Given the description of an element on the screen output the (x, y) to click on. 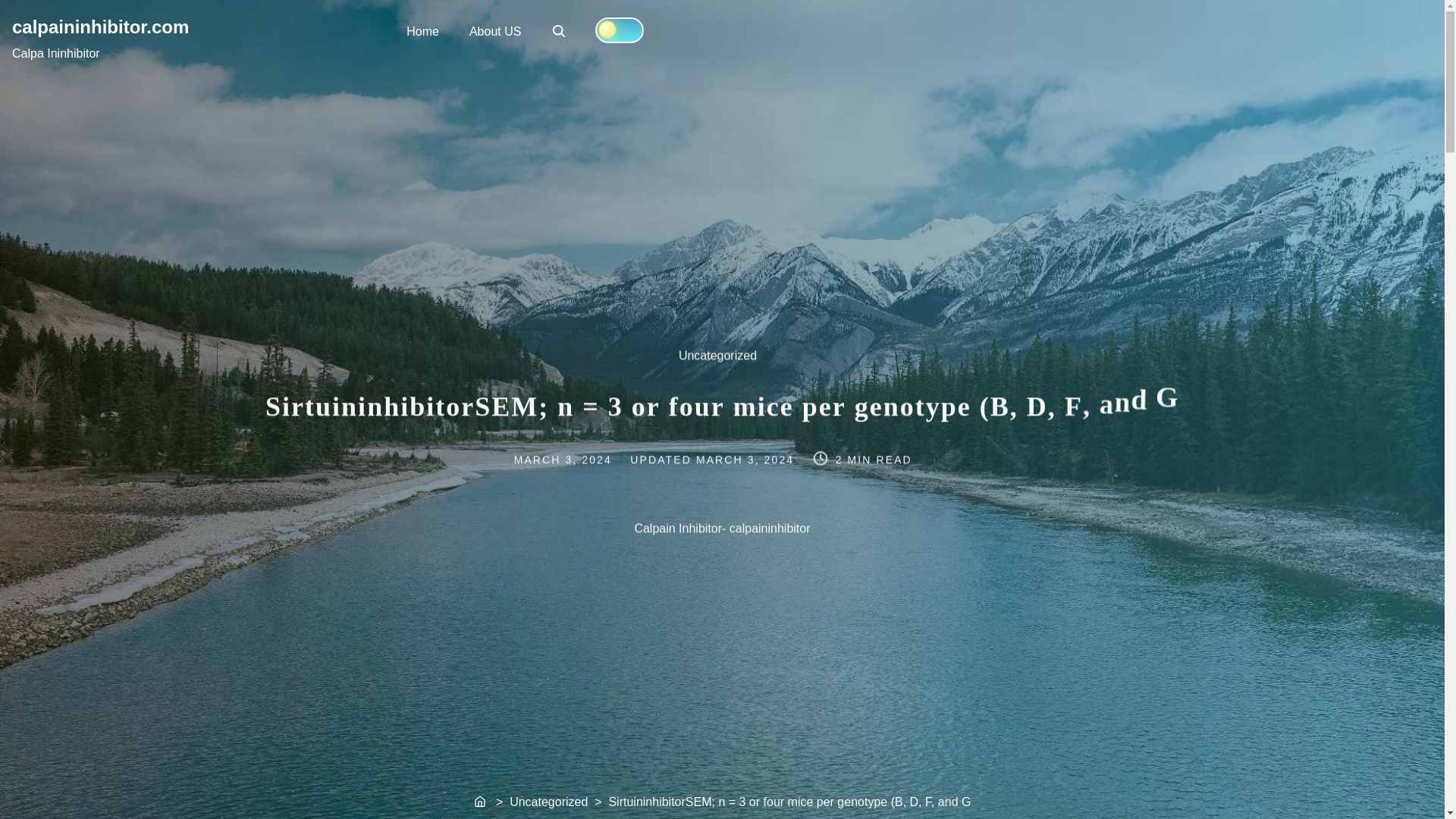
Search (558, 30)
Home (481, 802)
MARCH 3, 2024 (745, 459)
About US (494, 30)
Home (422, 30)
calpaininhibitor.com (100, 26)
Uncategorized (724, 360)
MARCH 3, 2024 (559, 31)
